Given the description of an element on the screen output the (x, y) to click on. 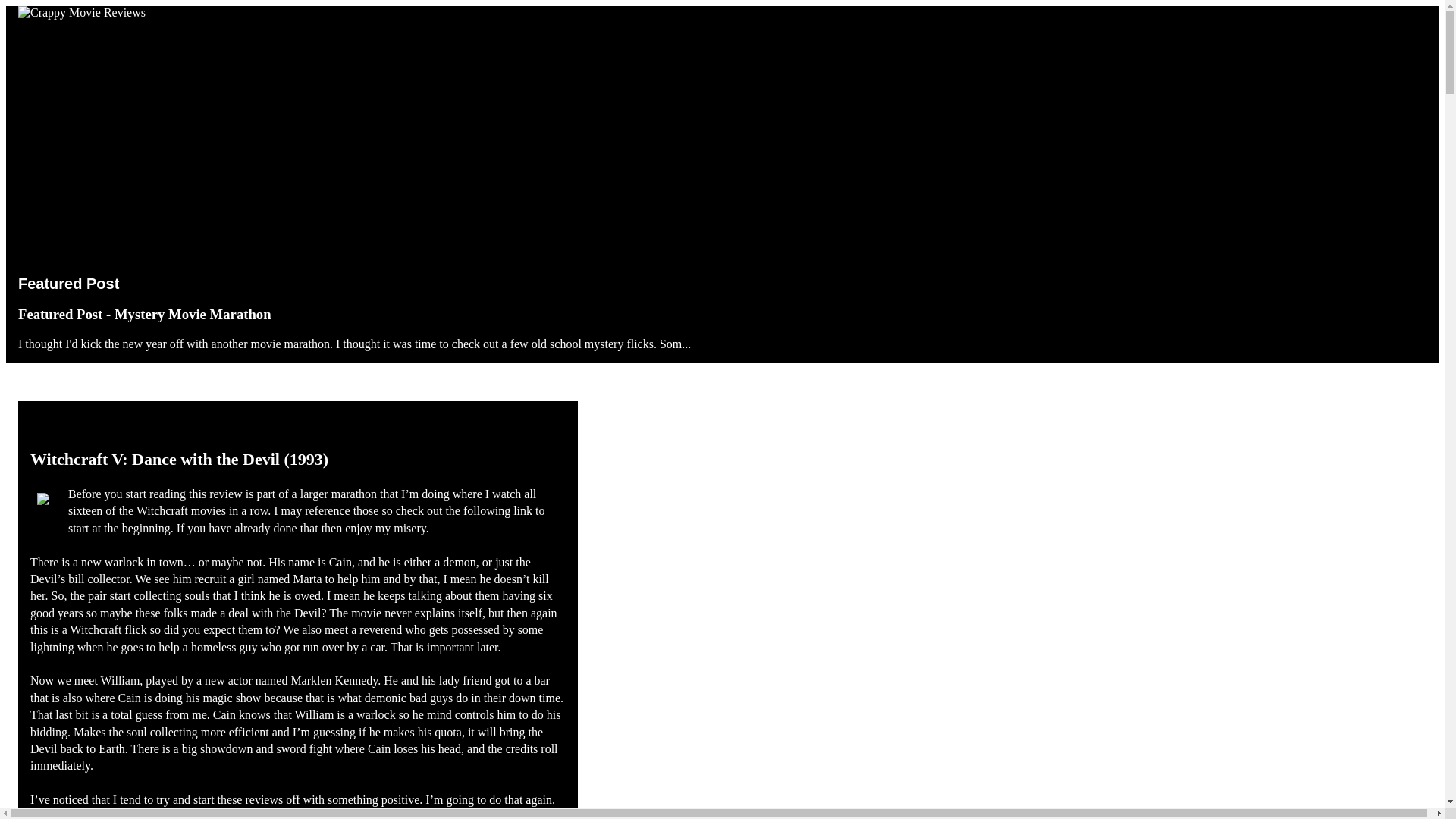
Featured Post - Mystery Movie Marathon (143, 314)
